Given the description of an element on the screen output the (x, y) to click on. 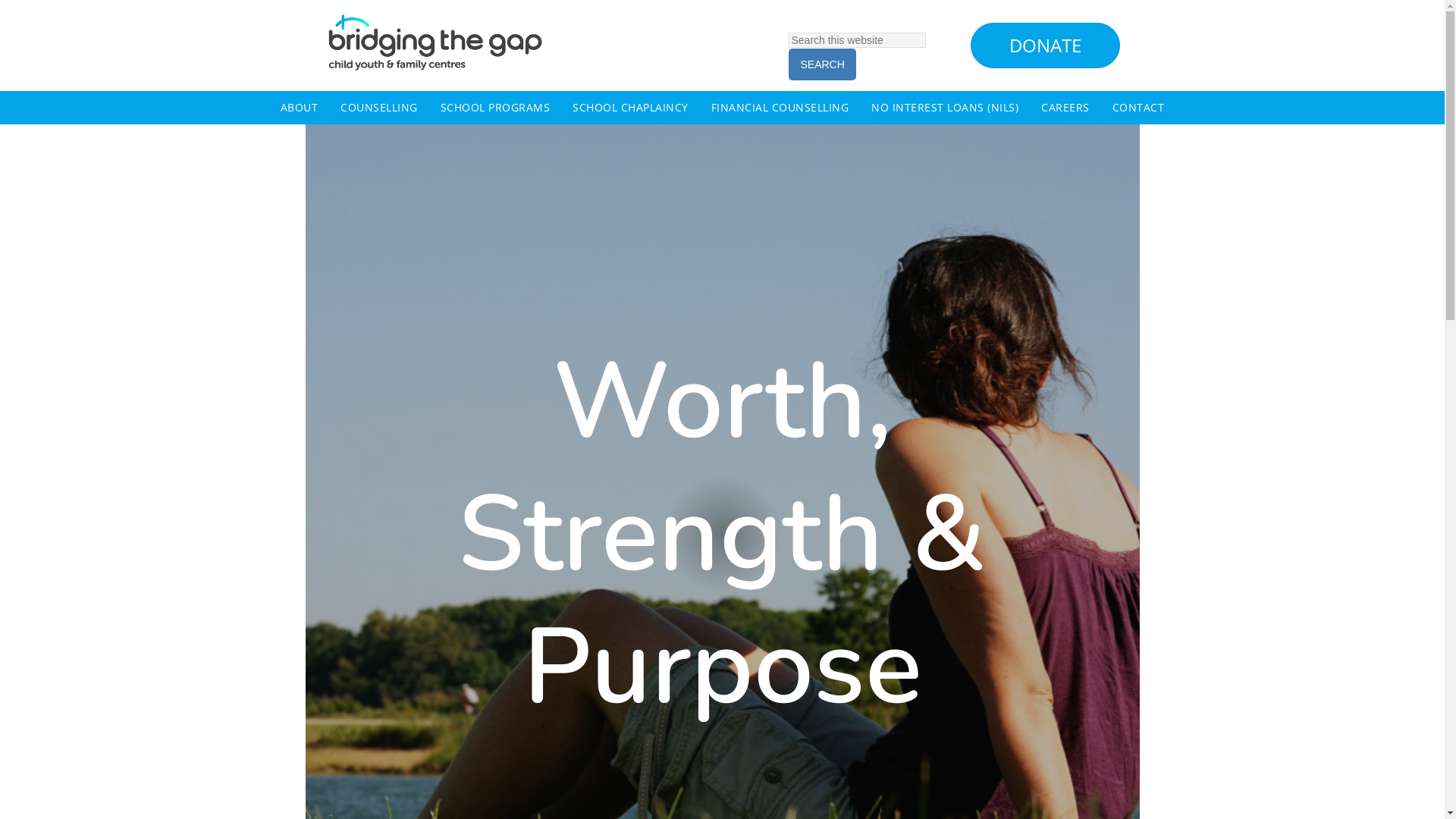
CAREERS Element type: text (1065, 107)
ABOUT Element type: text (299, 107)
SCHOOL CHAPLAINCY Element type: text (630, 107)
COUNSELLING Element type: text (378, 107)
FINANCIAL COUNSELLING Element type: text (779, 107)
Search Element type: text (821, 64)
NO INTEREST LOANS (NILS) Element type: text (944, 107)
bridging-the-gap-child-youth-family-support Element type: hover (434, 41)
SCHOOL PROGRAMS Element type: text (495, 107)
DONATE Element type: text (1045, 45)
CONTACT Element type: text (1138, 107)
